Given the description of an element on the screen output the (x, y) to click on. 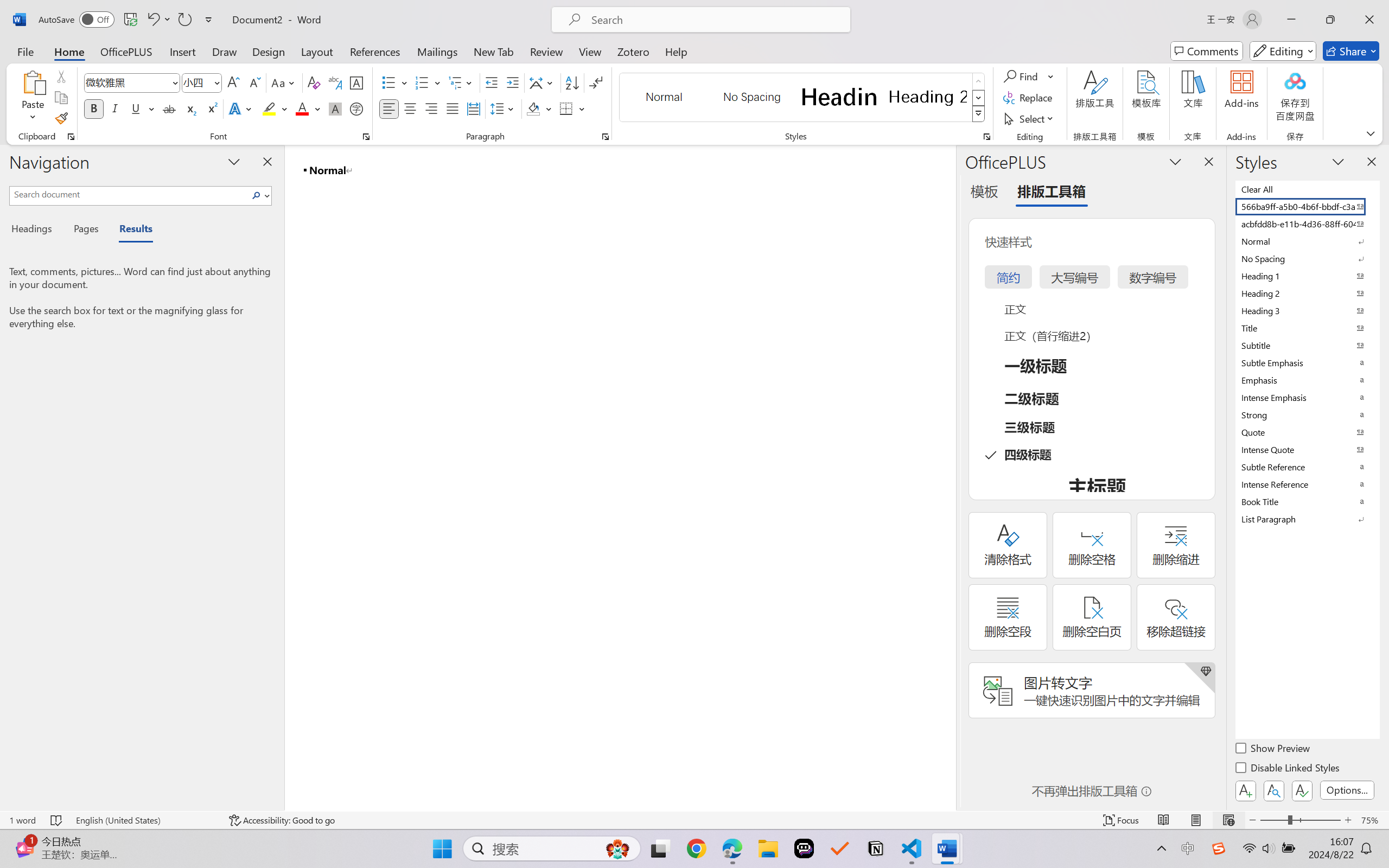
Review (546, 51)
Title (1306, 327)
Undo Text Fill Effect (158, 19)
Headings (35, 229)
Help (675, 51)
Subtle Emphasis (1306, 362)
Grow Font (233, 82)
Save (130, 19)
Change Case (284, 82)
Row Down (978, 97)
Distributed (473, 108)
Format Painter (60, 118)
Web Layout (1228, 819)
Show/Hide Editing Marks (595, 82)
